Given the description of an element on the screen output the (x, y) to click on. 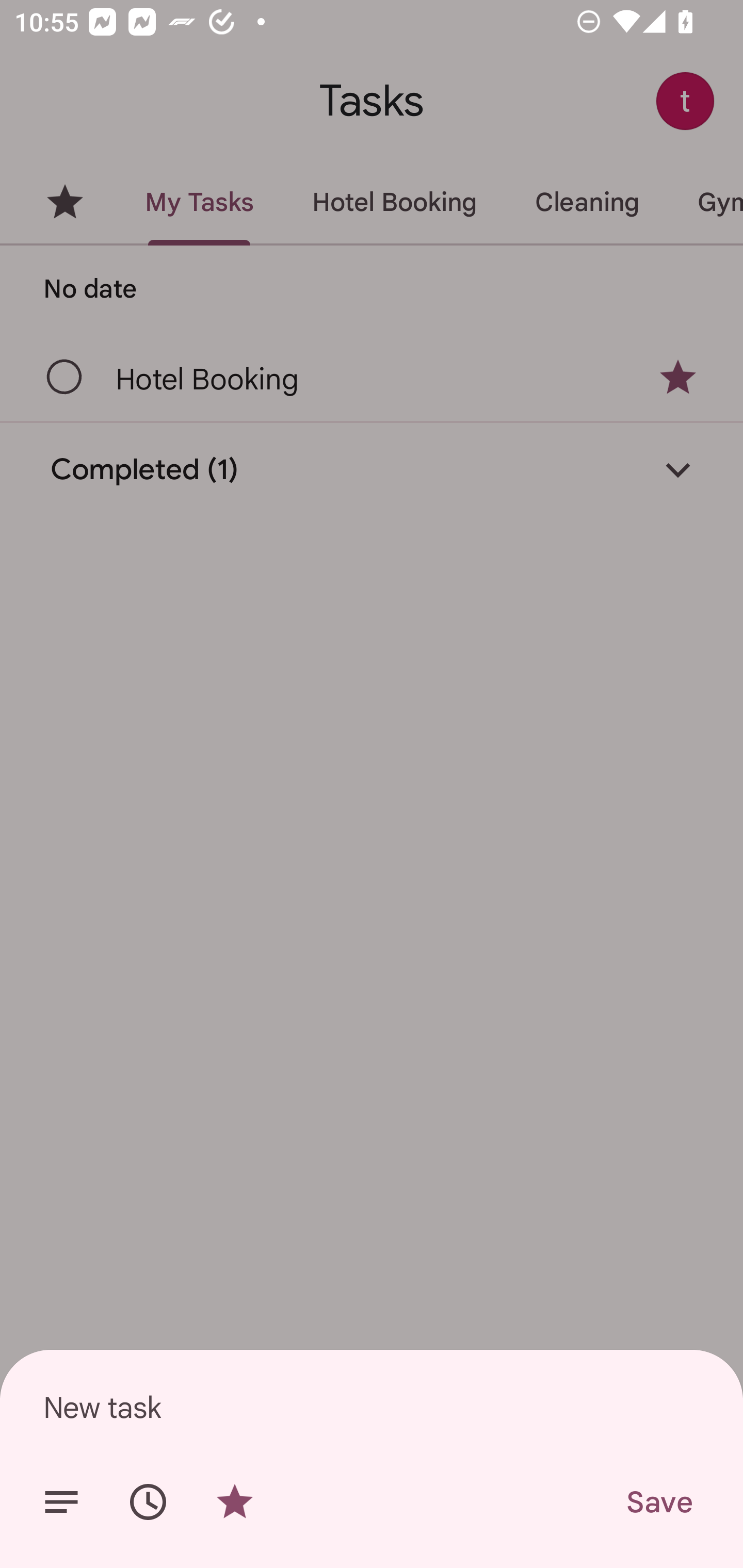
New task (371, 1407)
Save (659, 1501)
Add details (60, 1501)
Set date/time (147, 1501)
Remove star (234, 1501)
